Given the description of an element on the screen output the (x, y) to click on. 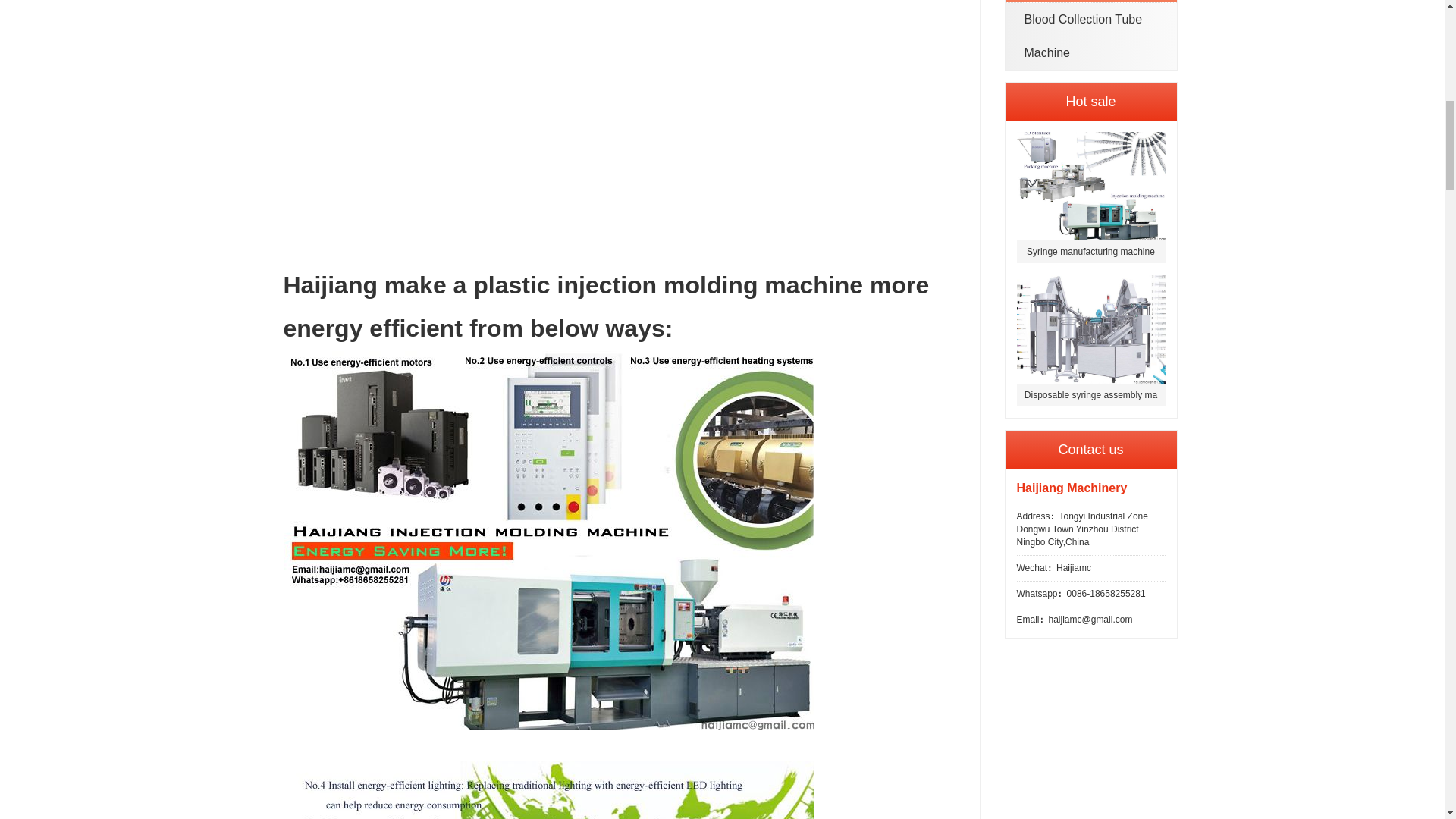
YouTube video player (495, 119)
Injection molding machine (548, 789)
Disposable syringe assembly ma (1090, 340)
Syringe manufacturing machine  (1090, 197)
